Given the description of an element on the screen output the (x, y) to click on. 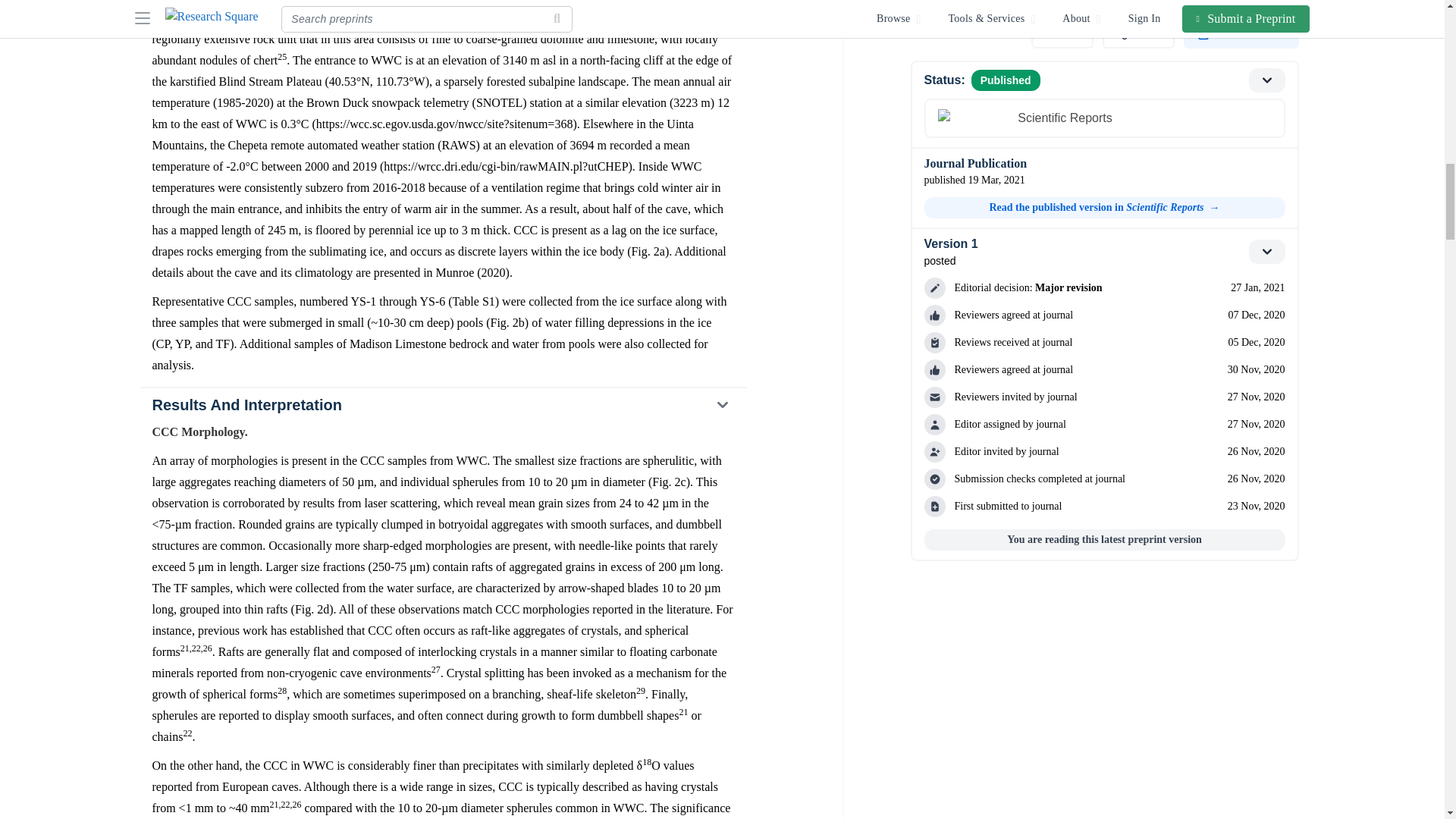
Results And Interpretation (442, 404)
